Given the description of an element on the screen output the (x, y) to click on. 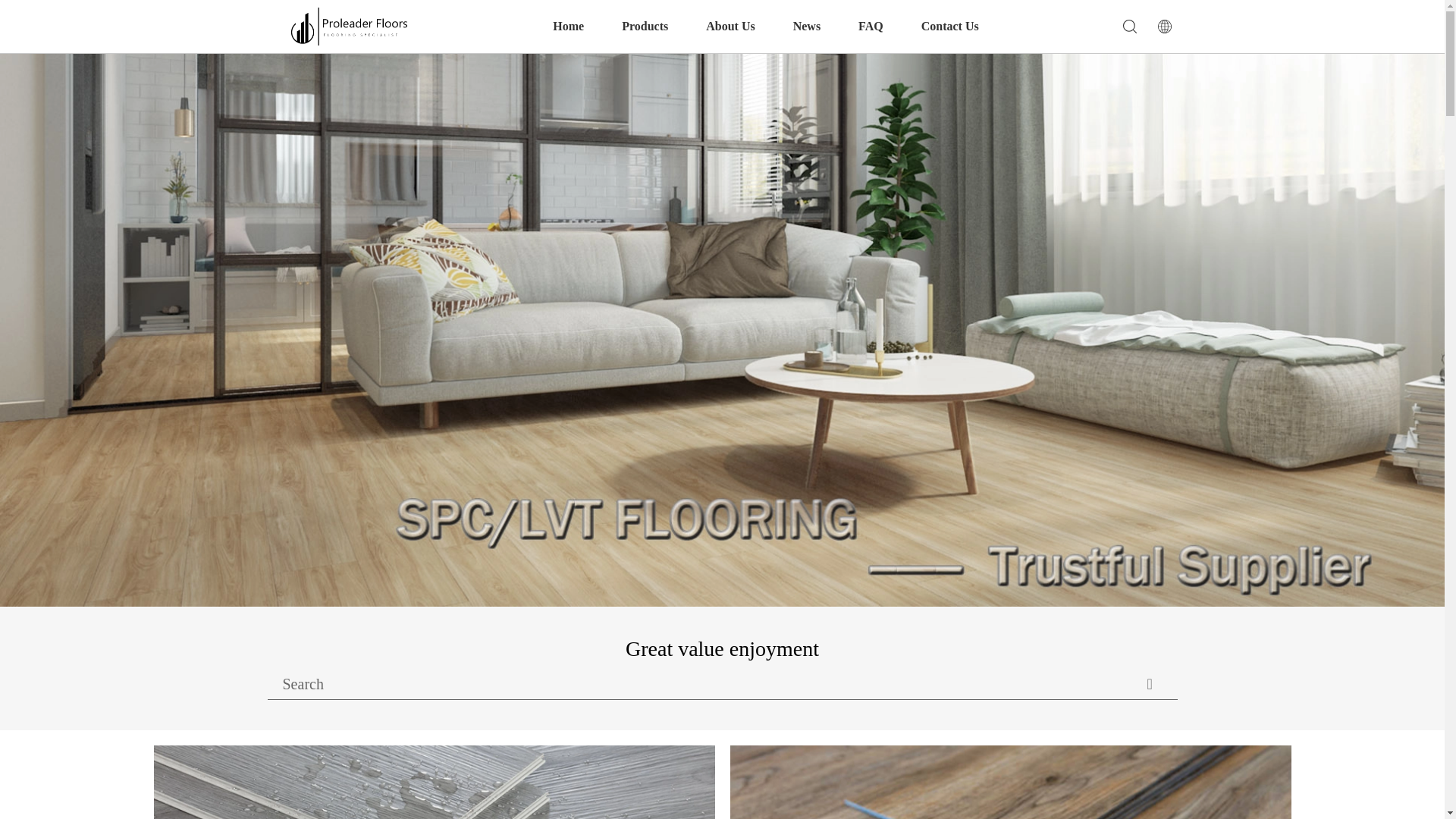
FAQ (871, 27)
News (807, 27)
Home (568, 27)
Contact Us (949, 27)
About Us (730, 27)
Products (644, 27)
